Given the description of an element on the screen output the (x, y) to click on. 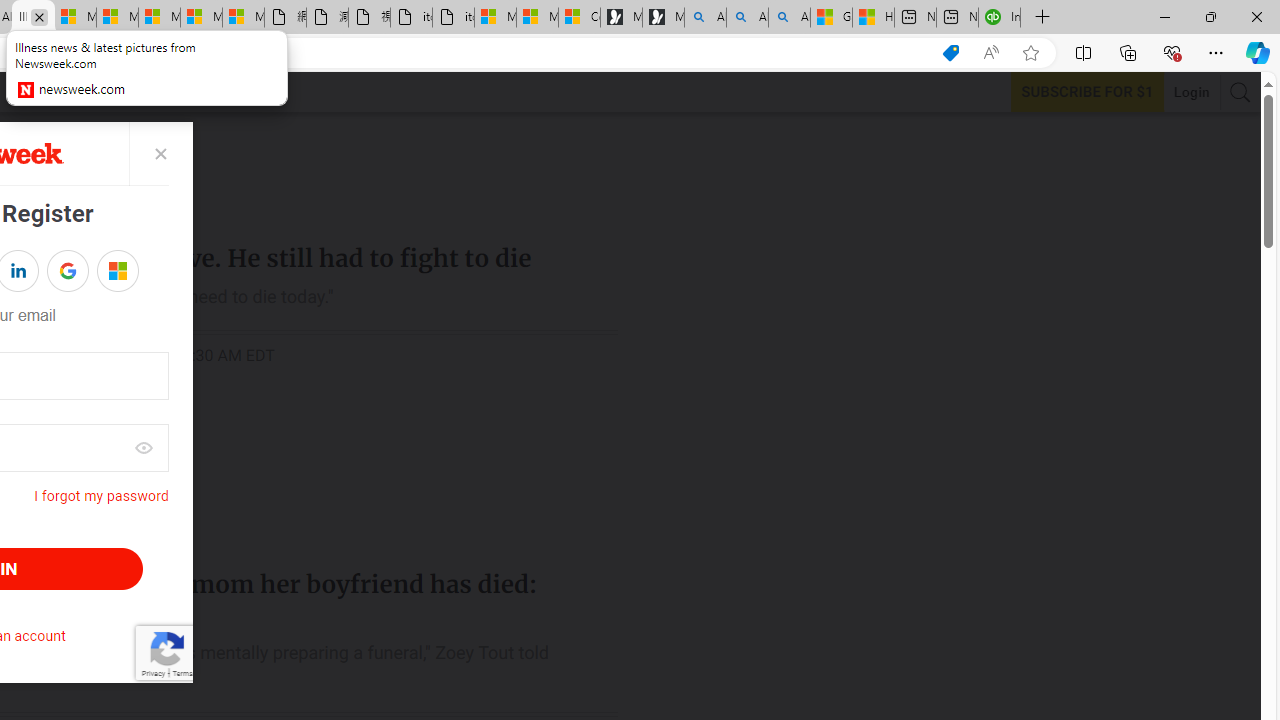
Alabama high school quarterback dies - Search (704, 17)
I forgot my password (100, 496)
itconcepthk.com/projector_solutions.mp4 (452, 17)
Alabama high school quarterback dies - Search Videos (789, 17)
Intuit QuickBooks Online - Quickbooks (999, 17)
Subscribe to our service (1087, 91)
